Given the description of an element on the screen output the (x, y) to click on. 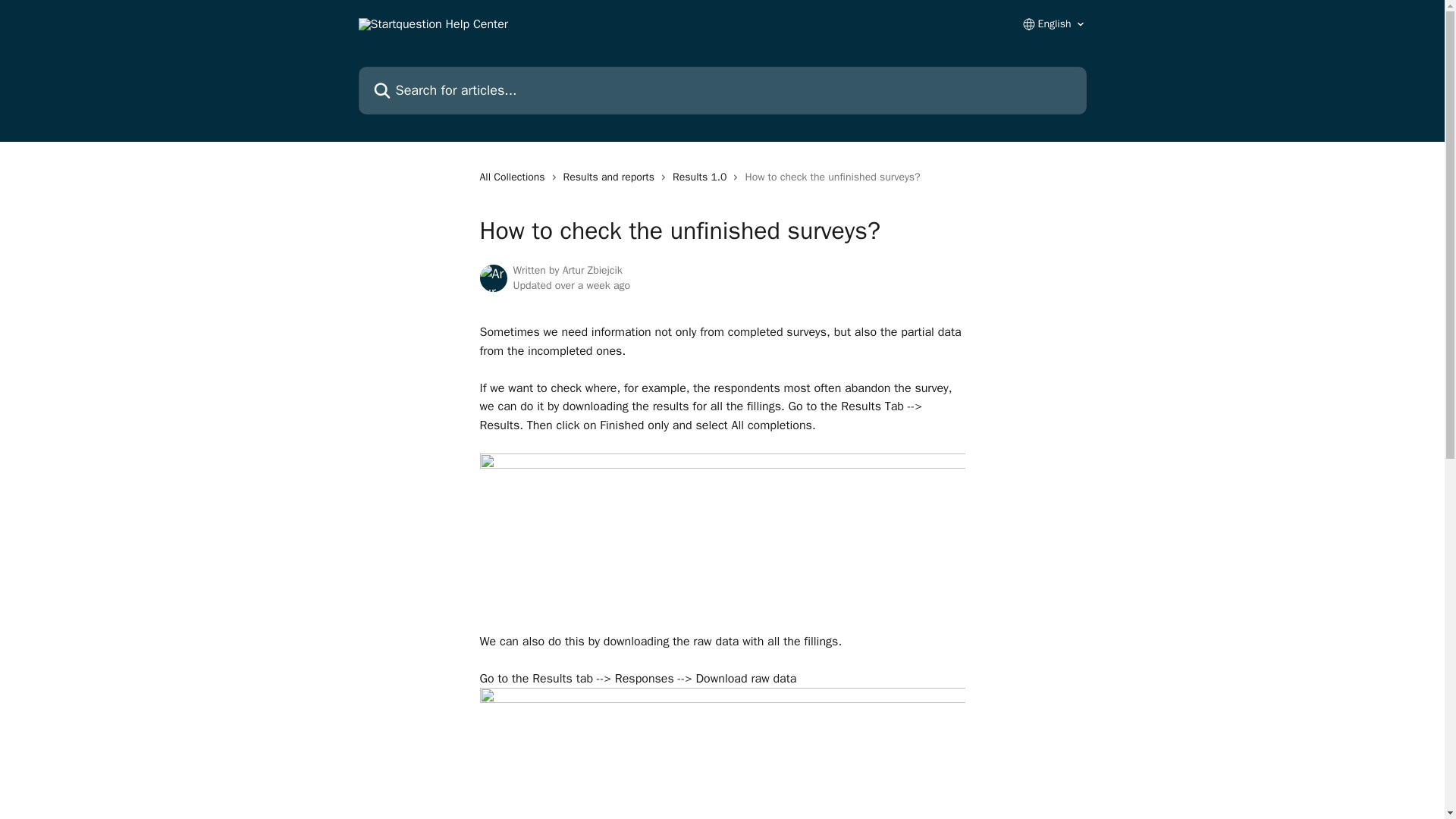
Results 1.0 (702, 176)
All Collections (514, 176)
Results and reports (612, 176)
